Given the description of an element on the screen output the (x, y) to click on. 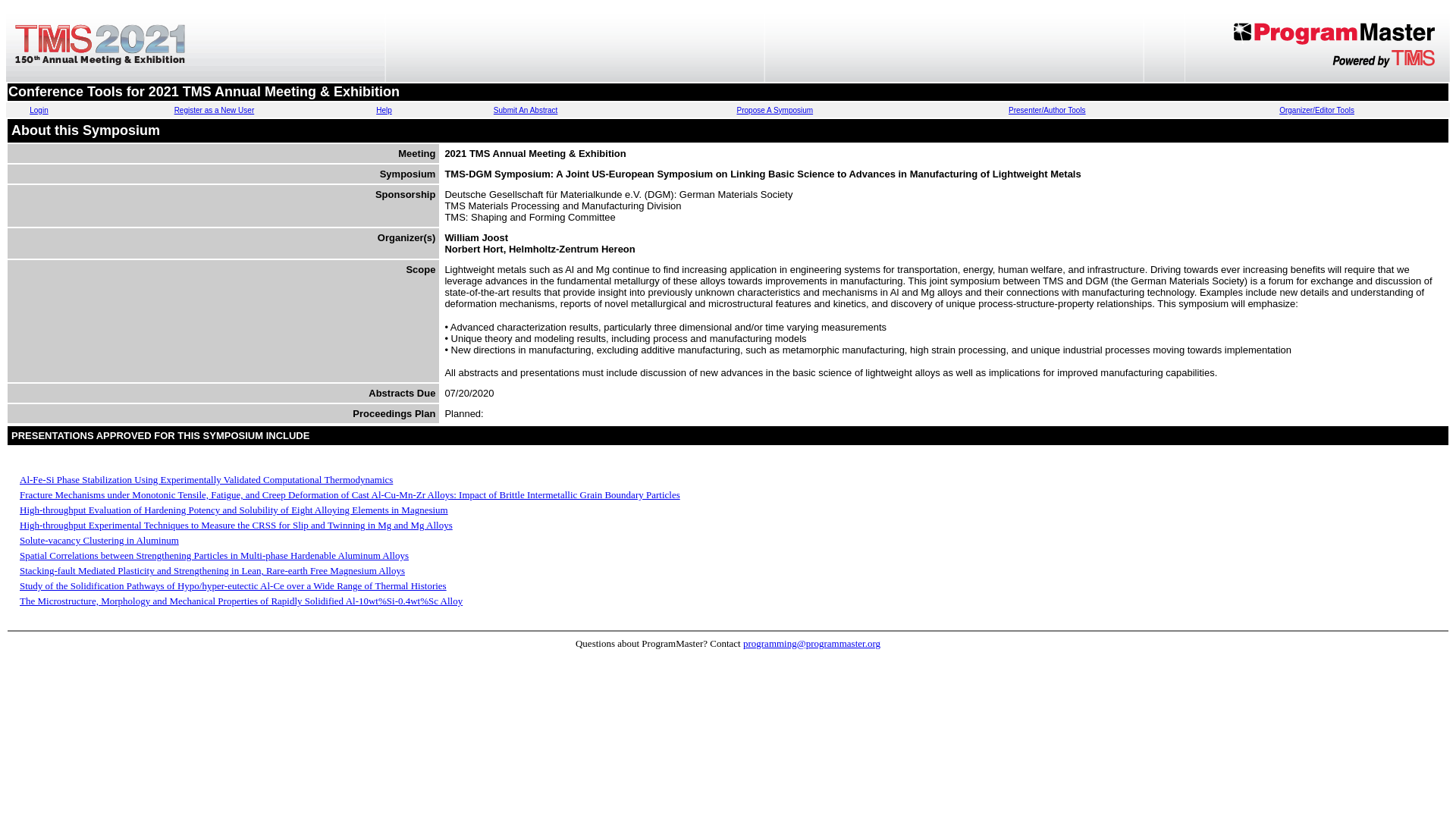
William Joost (476, 237)
Login (38, 110)
Norbert Hort (473, 248)
Solute-vacancy Clustering in Aluminum (99, 540)
Help (383, 110)
